Given the description of an element on the screen output the (x, y) to click on. 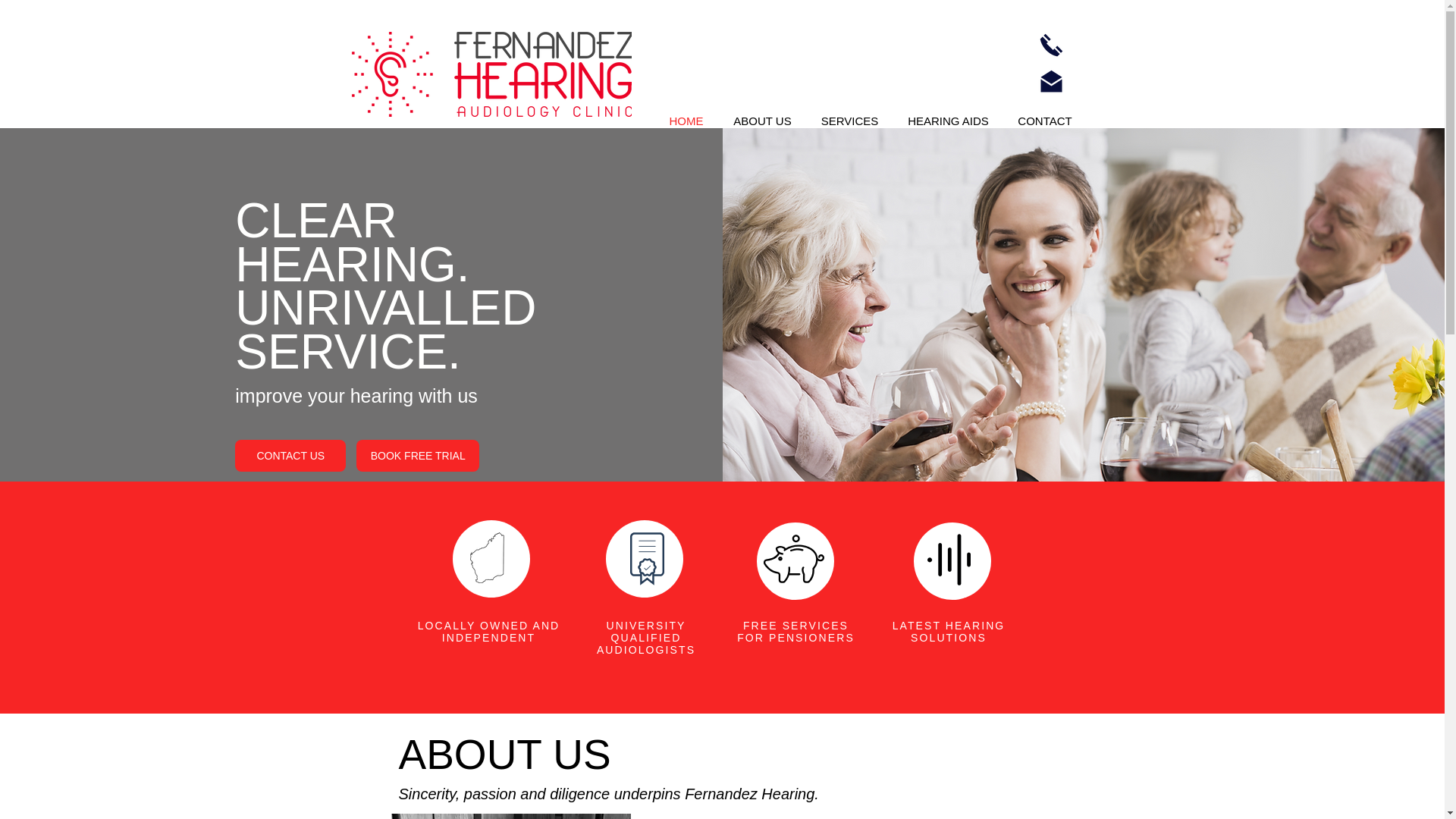
CONTACT (1045, 120)
HEARING AIDS (948, 120)
ABOUT US (762, 120)
CONTACT US (290, 455)
BOOK FREE TRIAL (417, 455)
SERVICES (849, 120)
HOME (685, 120)
